Given the description of an element on the screen output the (x, y) to click on. 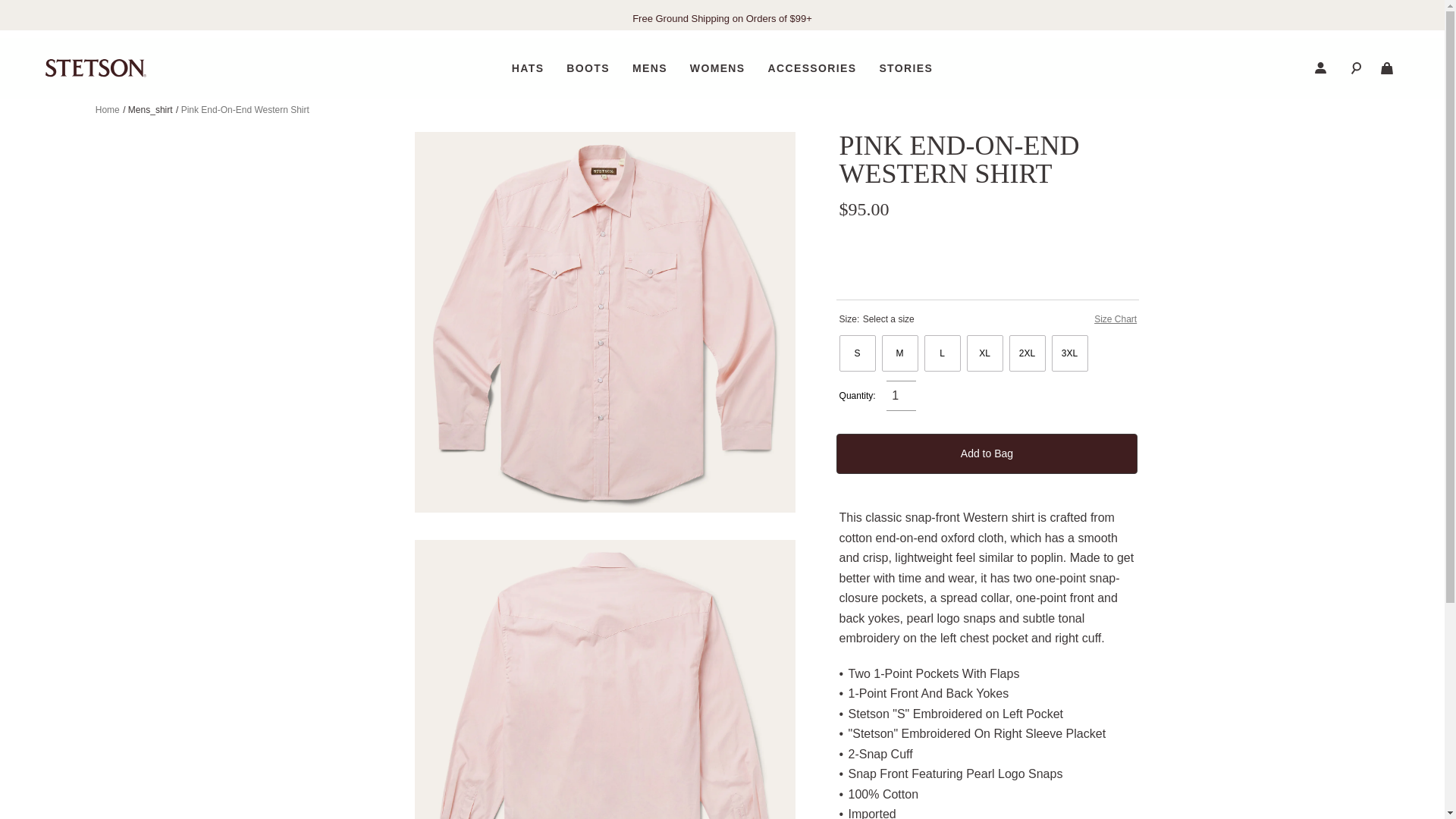
Add to Bag (986, 454)
Stetson (96, 67)
Stetson (96, 67)
Home (107, 109)
1 (900, 395)
